Given the description of an element on the screen output the (x, y) to click on. 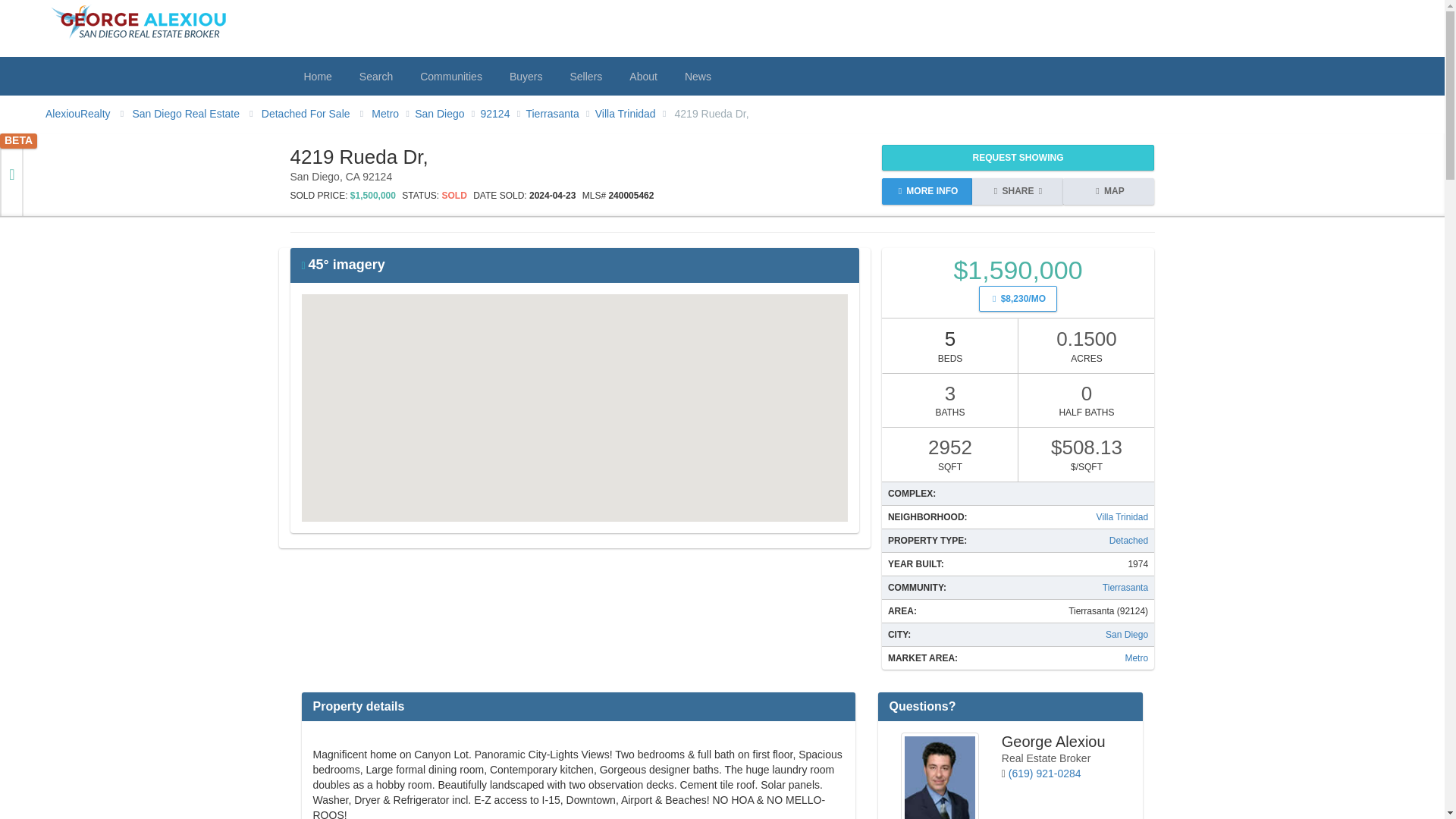
AlexiouRealty - San Diego Real Estate (77, 113)
About (643, 75)
News (698, 75)
George Alexiou - See My Profile (939, 775)
San Diego (439, 113)
92124 (495, 113)
Villa Trinidad (1122, 516)
Communities (451, 75)
4219 Rueda Dr,  (712, 114)
SHARE (1017, 190)
